Given the description of an element on the screen output the (x, y) to click on. 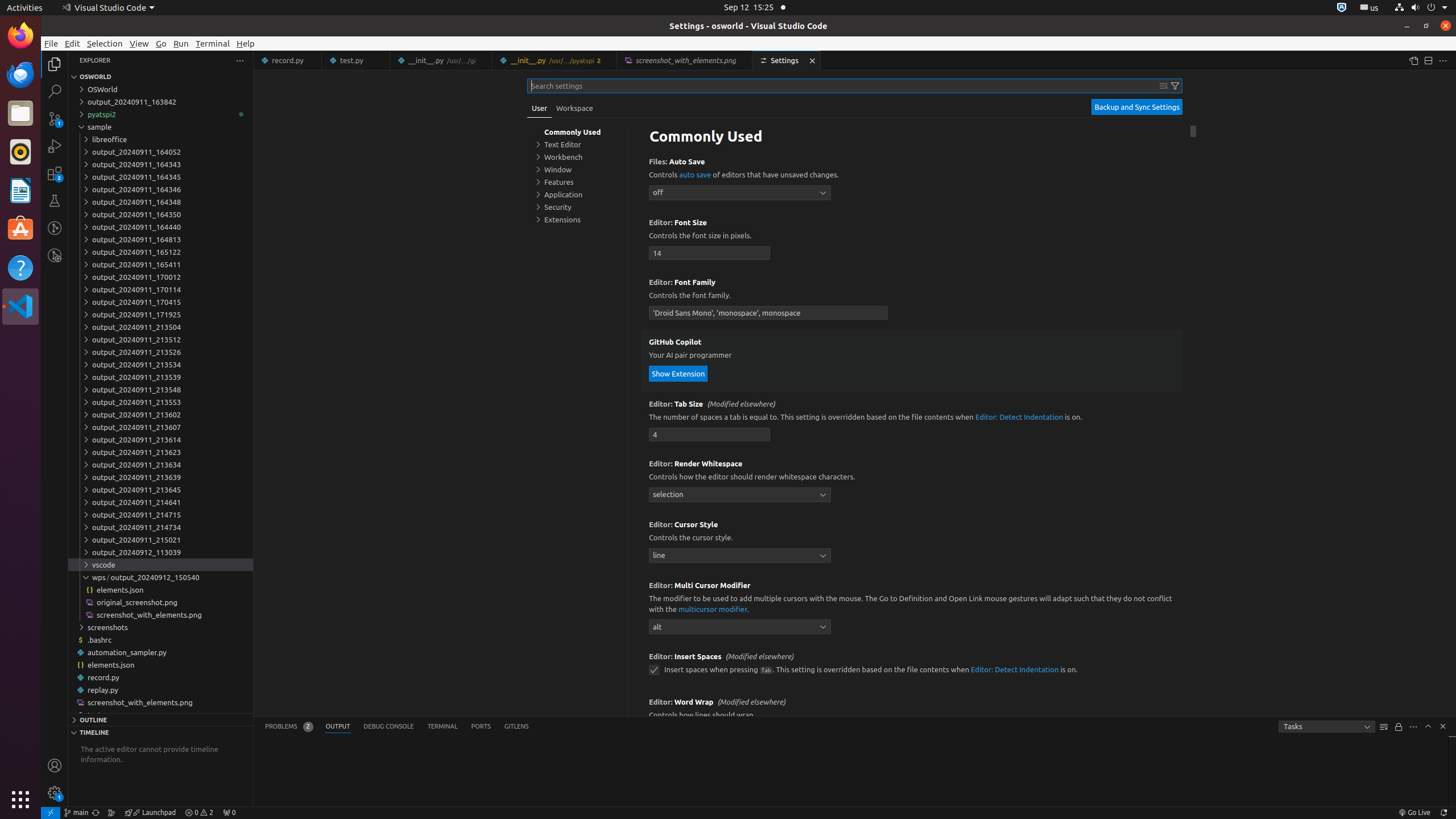
output_20240911_164440 Element type: tree-item (160, 226)
Editor Word Wrap. Controls how lines should wrap.  Element type: tree-item (911, 719)
Selection Element type: push-button (104, 43)
test.py Element type: page-tab (355, 60)
Terminal Element type: push-button (212, 43)
